Given the description of an element on the screen output the (x, y) to click on. 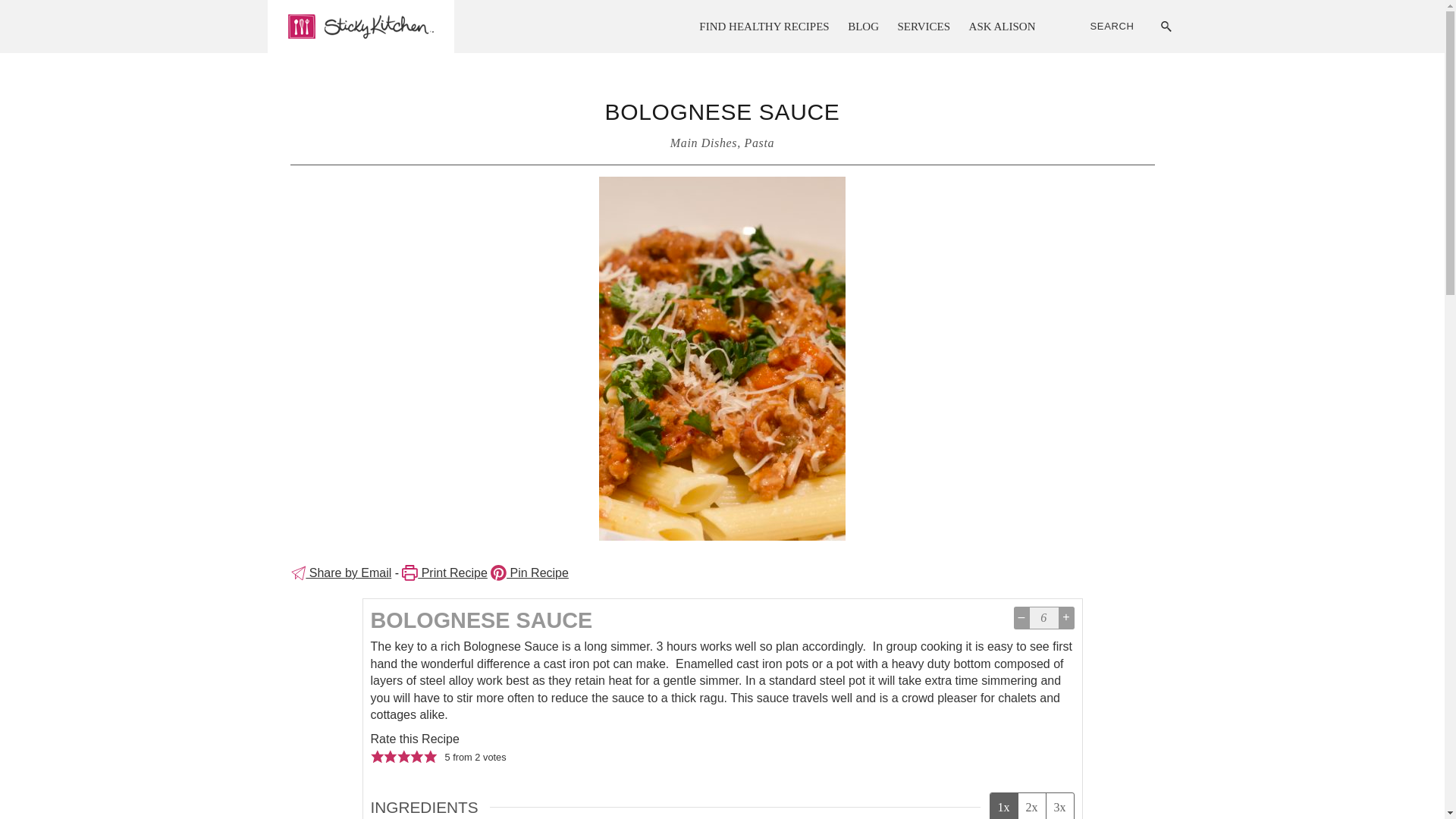
1x (1003, 806)
6 (1042, 617)
FIND HEALTHY RECIPES (763, 26)
BLOG (863, 26)
Pin Recipe (529, 572)
ASK ALISON (1001, 26)
Pasta (759, 142)
Print Recipe (443, 572)
2x (1031, 806)
Main Dishes (702, 142)
SERVICES (923, 26)
